Given the description of an element on the screen output the (x, y) to click on. 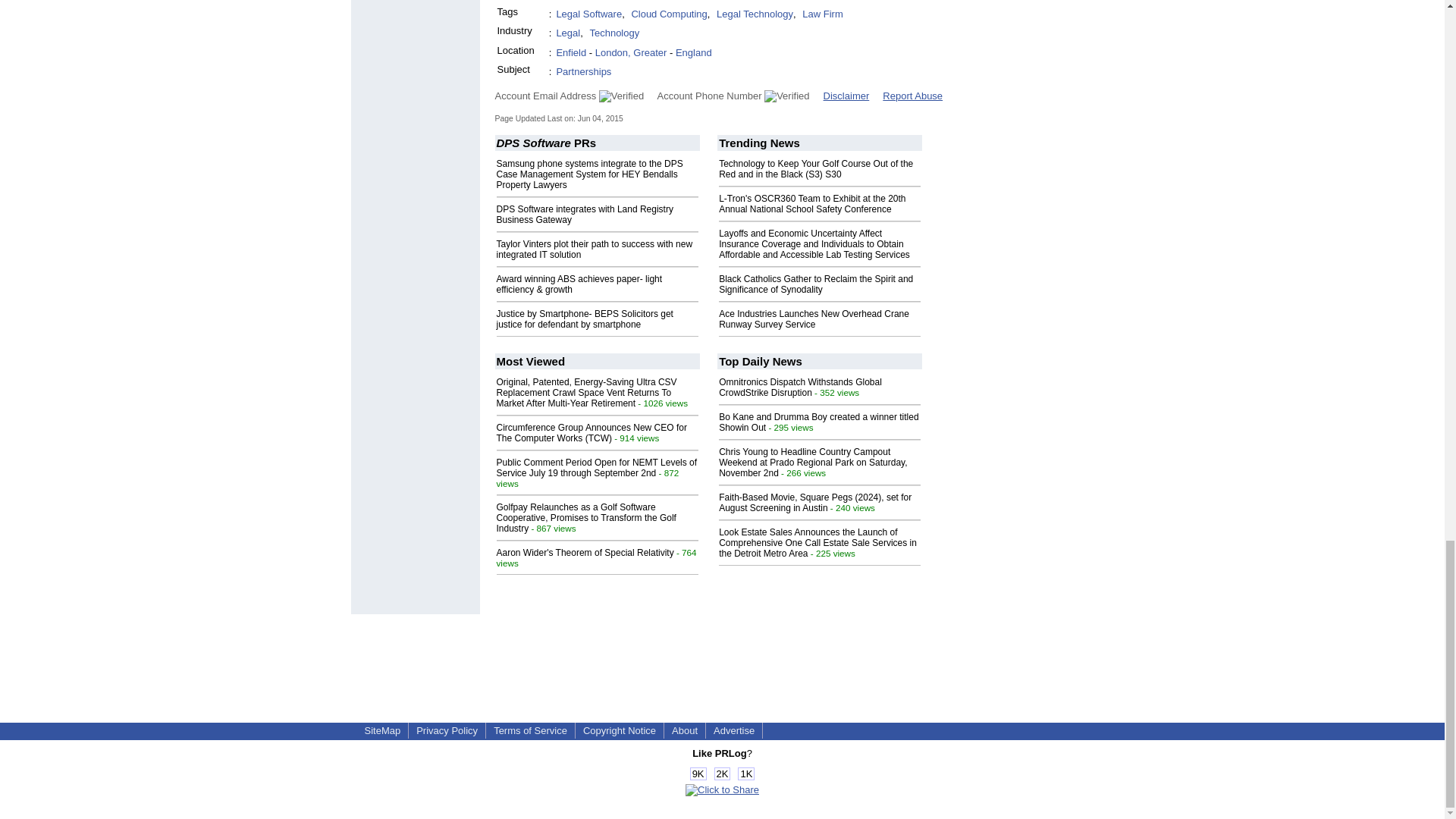
Verified (786, 96)
Verified (620, 96)
Share this page! (721, 789)
Email Verified (695, 1)
